Given the description of an element on the screen output the (x, y) to click on. 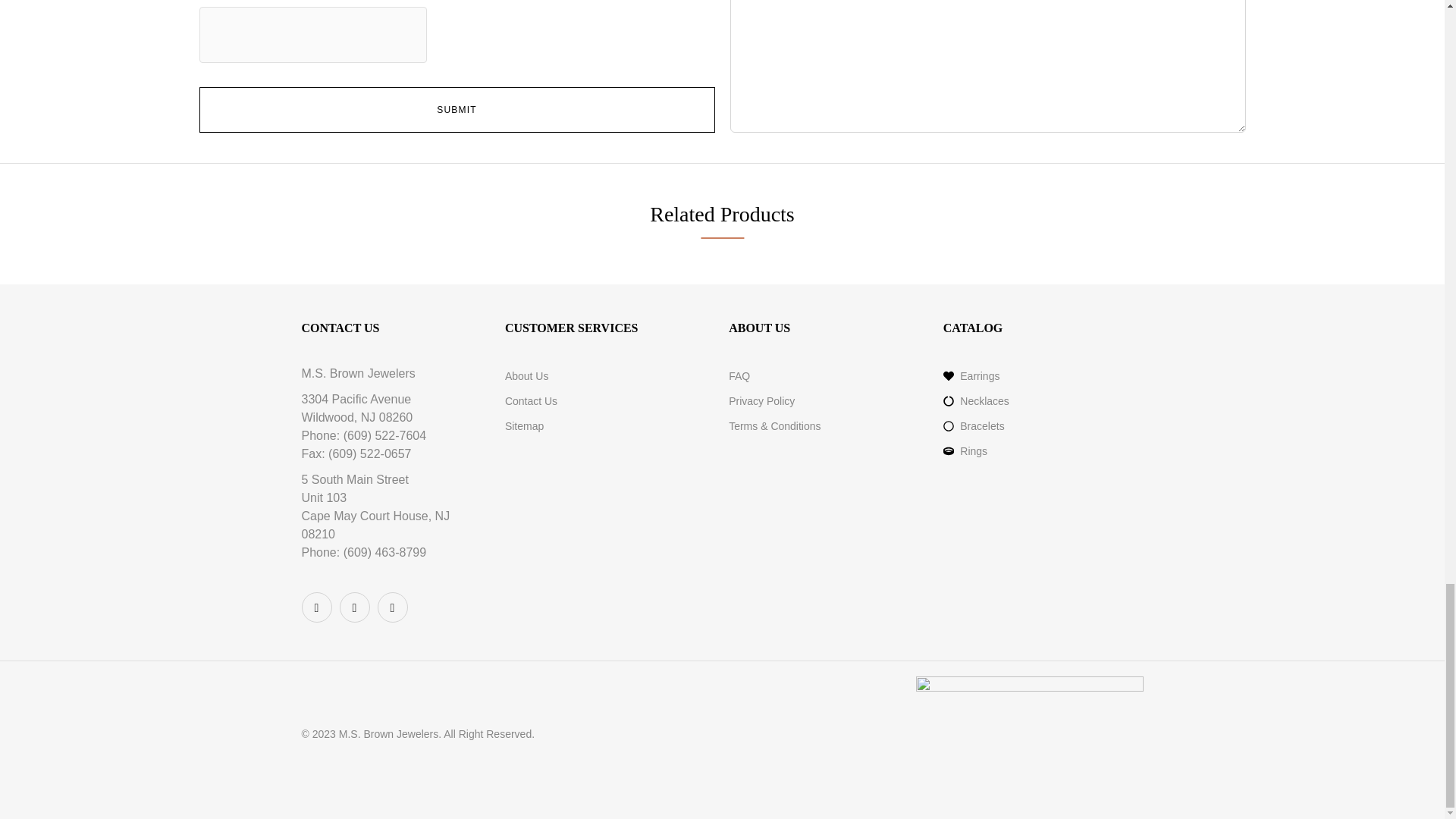
Submit (456, 109)
